Given the description of an element on the screen output the (x, y) to click on. 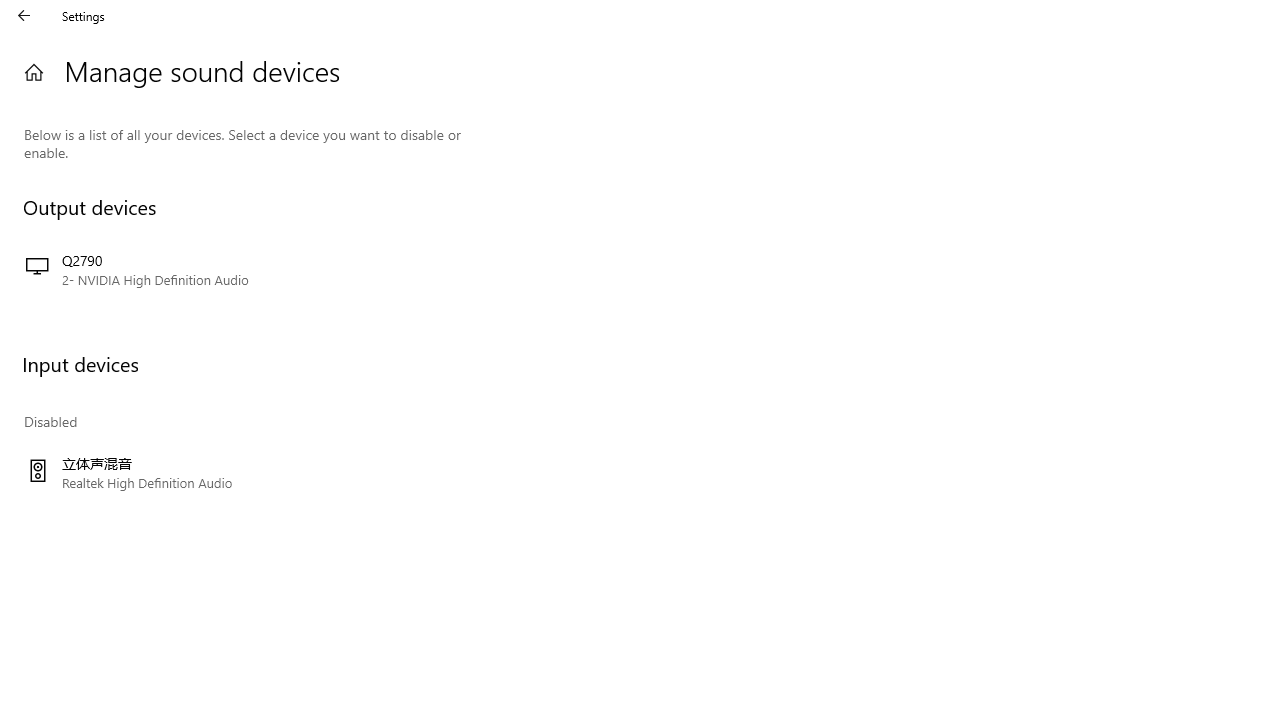
Q2790 2- NVIDIA High Definition Audio (243, 269)
Home (33, 71)
Back (24, 15)
